Given the description of an element on the screen output the (x, y) to click on. 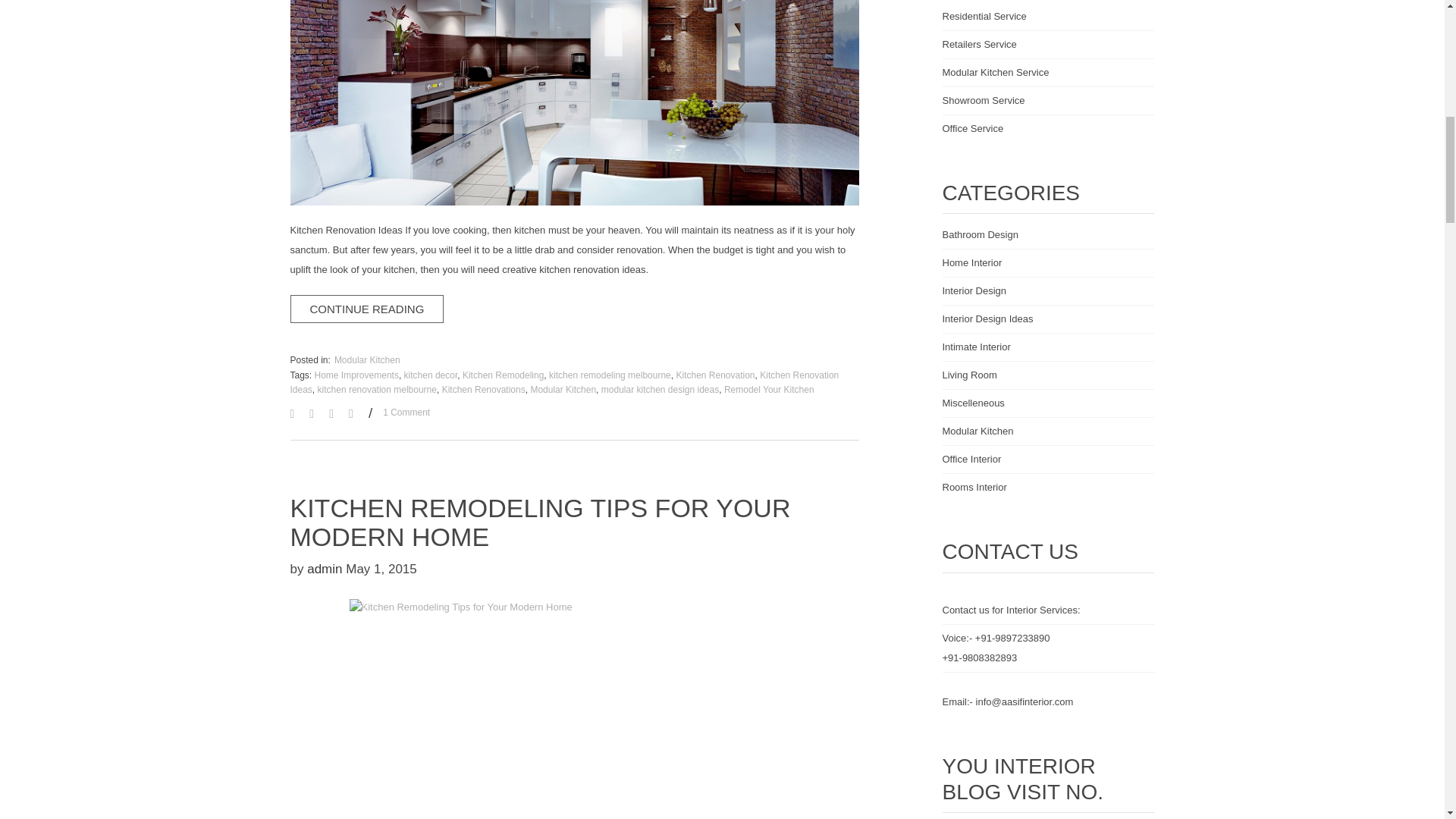
Kitchen Renovations (483, 389)
Home Improvements (356, 375)
Kitchen Renovation (714, 375)
Posts by admin (324, 568)
kitchen renovation melbourne (376, 389)
Remodel Your Kitchen (768, 389)
Kitchen Remodeling (503, 375)
kitchen decor (431, 375)
Modular Kitchen (562, 389)
CONTINUE READING (366, 308)
